Given the description of an element on the screen output the (x, y) to click on. 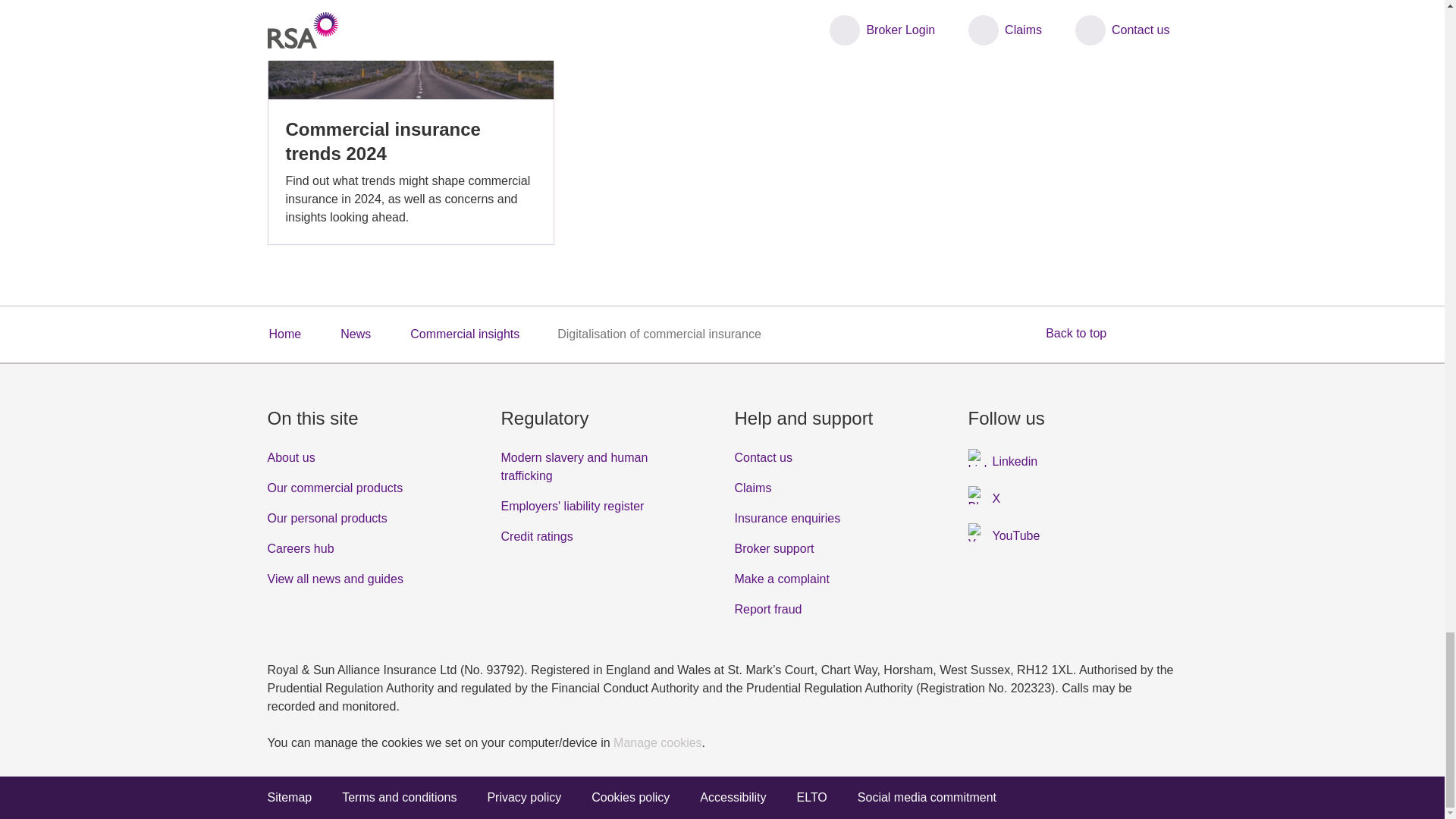
Commercial insurance trends 2024 (410, 122)
